Given the description of an element on the screen output the (x, y) to click on. 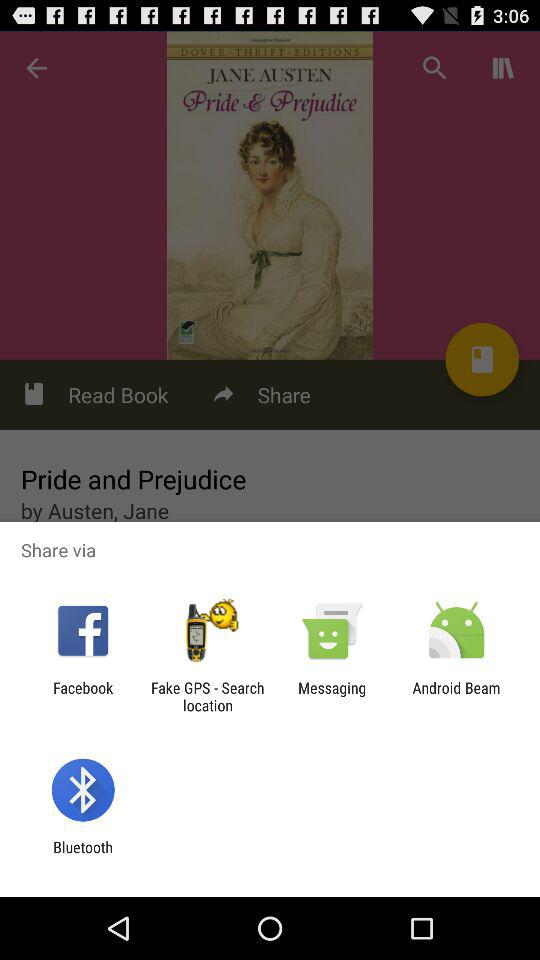
select icon to the right of the messaging (456, 696)
